Given the description of an element on the screen output the (x, y) to click on. 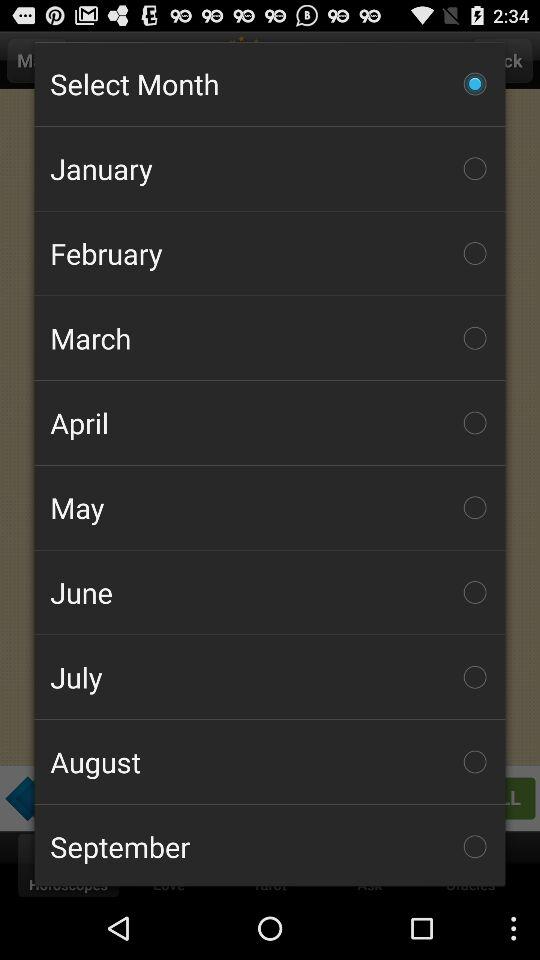
press the icon below july item (269, 761)
